Given the description of an element on the screen output the (x, y) to click on. 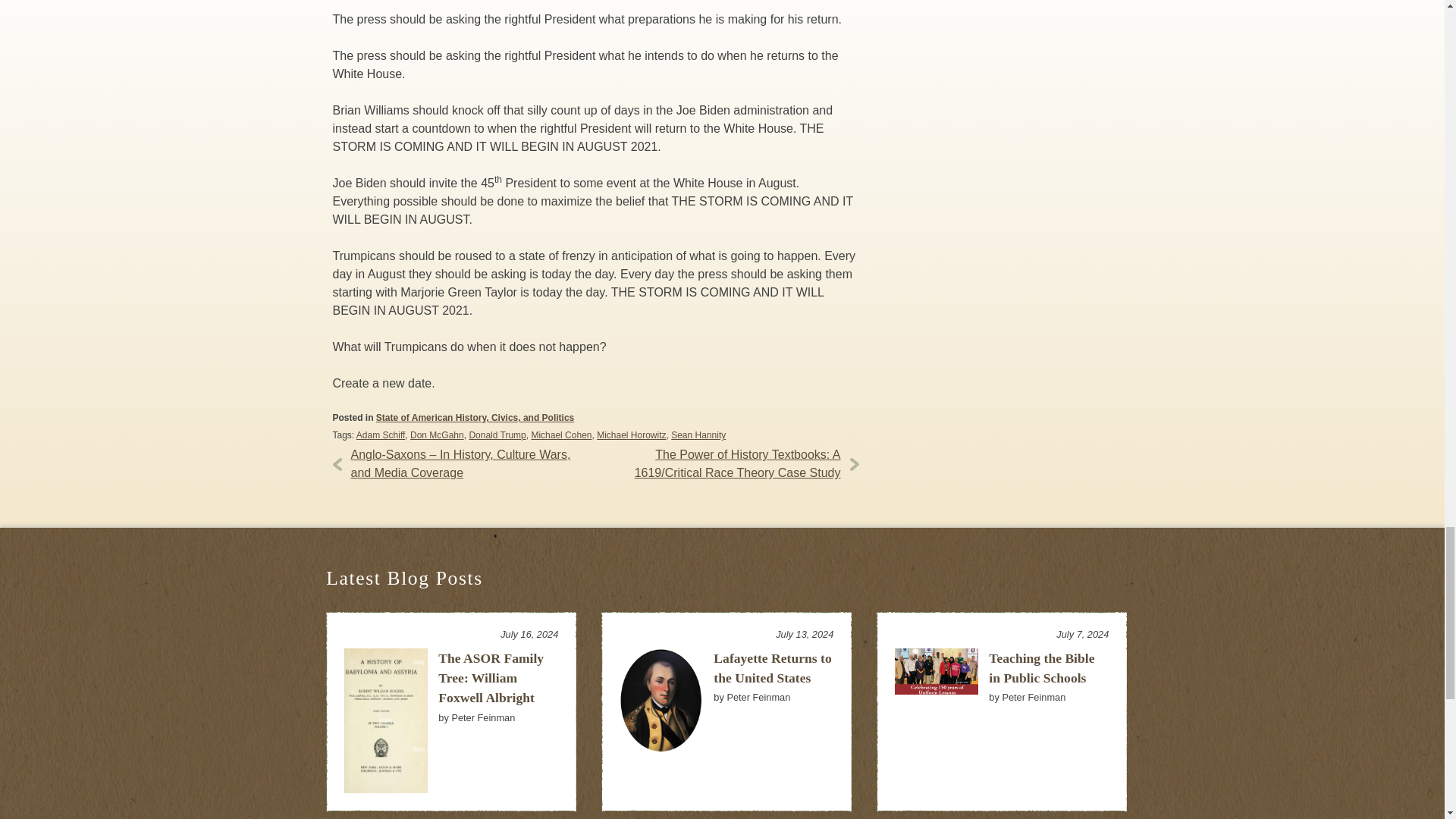
State of American History, Civics, and Politics (474, 417)
